Given the description of an element on the screen output the (x, y) to click on. 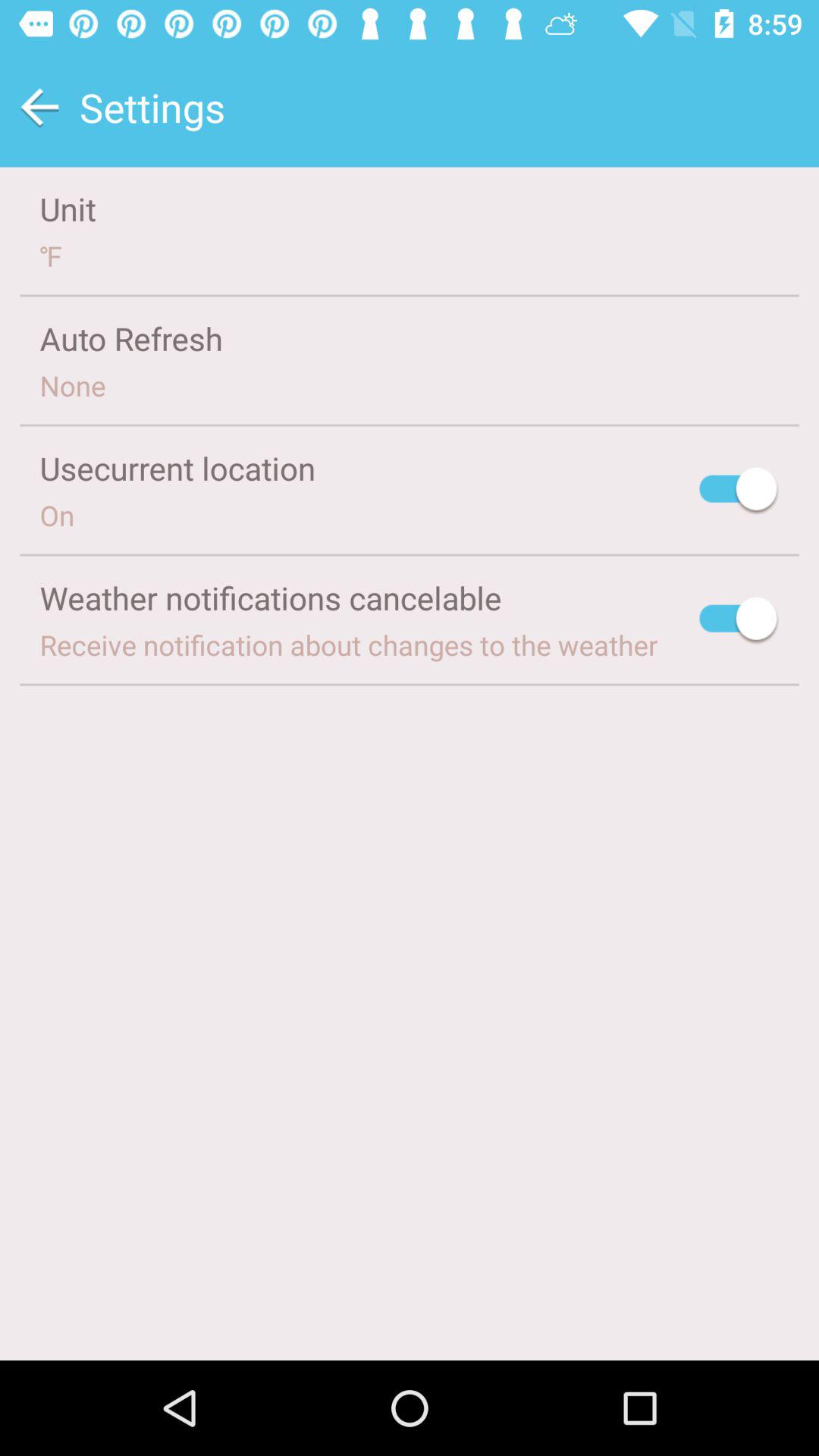
on and off switch (739, 491)
